Given the description of an element on the screen output the (x, y) to click on. 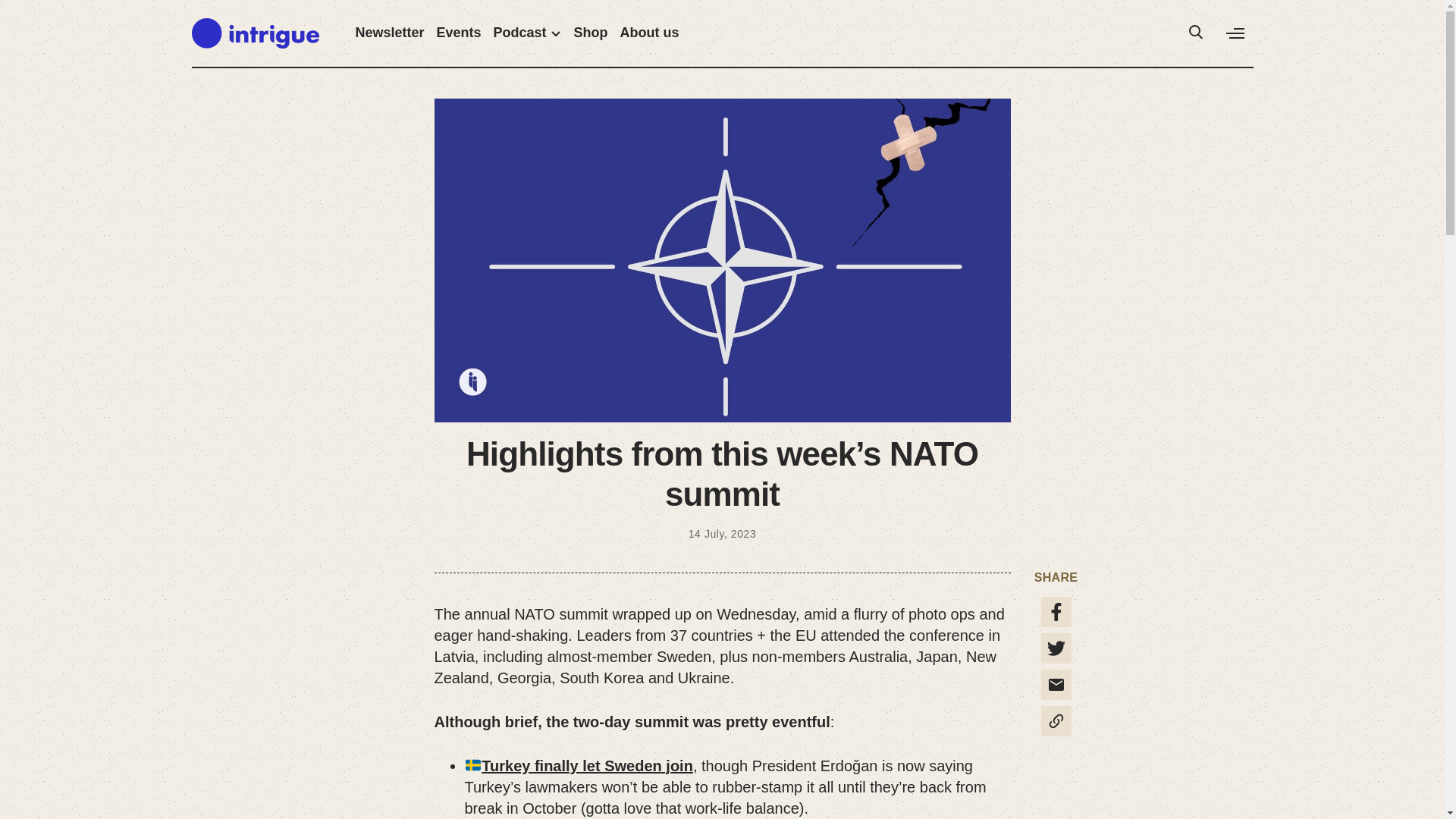
Shop (590, 33)
About us (649, 33)
Newsletter (389, 33)
Events (458, 33)
Podcast (527, 33)
